Given the description of an element on the screen output the (x, y) to click on. 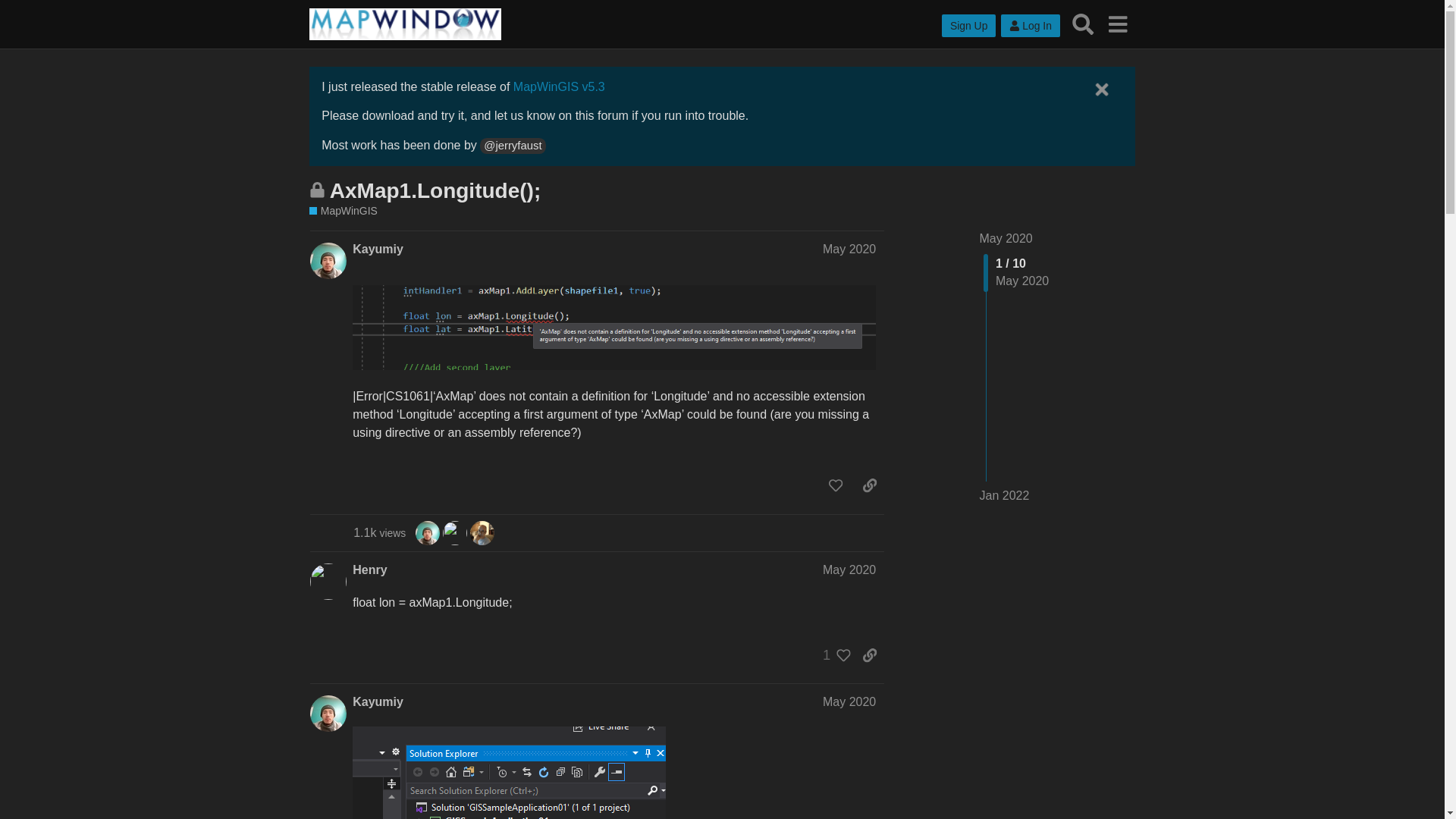
May 2020 (849, 569)
Dismiss this banner (1101, 88)
image (614, 327)
Search (1082, 23)
MapWinGIS v5.3 (559, 86)
copy a link to this post to clipboard (869, 484)
Sign Up (968, 25)
Jan 2022 (1004, 495)
Kayumiy (377, 701)
Henry (369, 569)
